Given the description of an element on the screen output the (x, y) to click on. 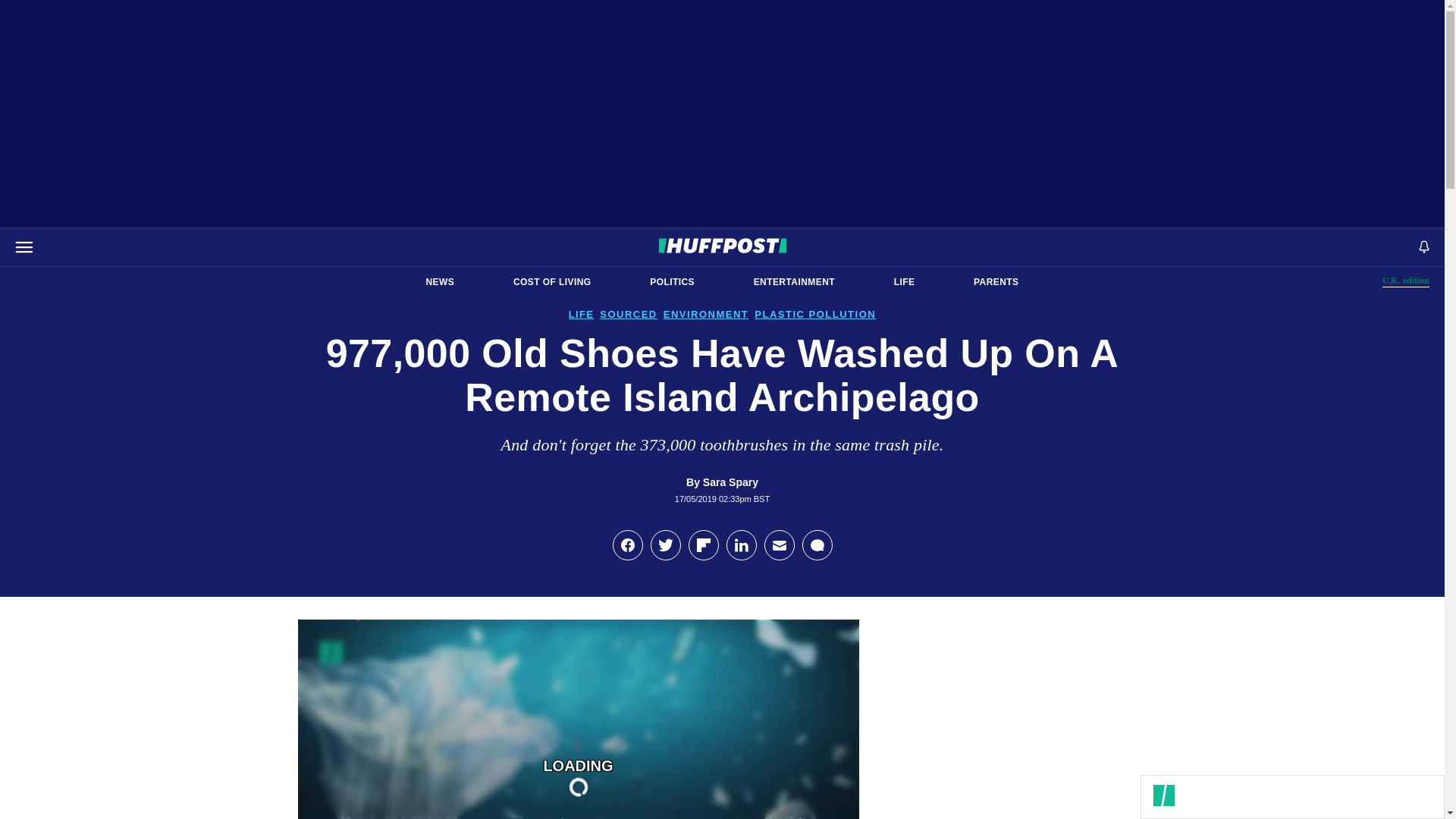
POLITICS (671, 281)
PARENTS (995, 281)
ENTERTAINMENT (794, 281)
COST OF LIVING (552, 281)
NEWS (1405, 281)
LIFE (440, 281)
